Given the description of an element on the screen output the (x, y) to click on. 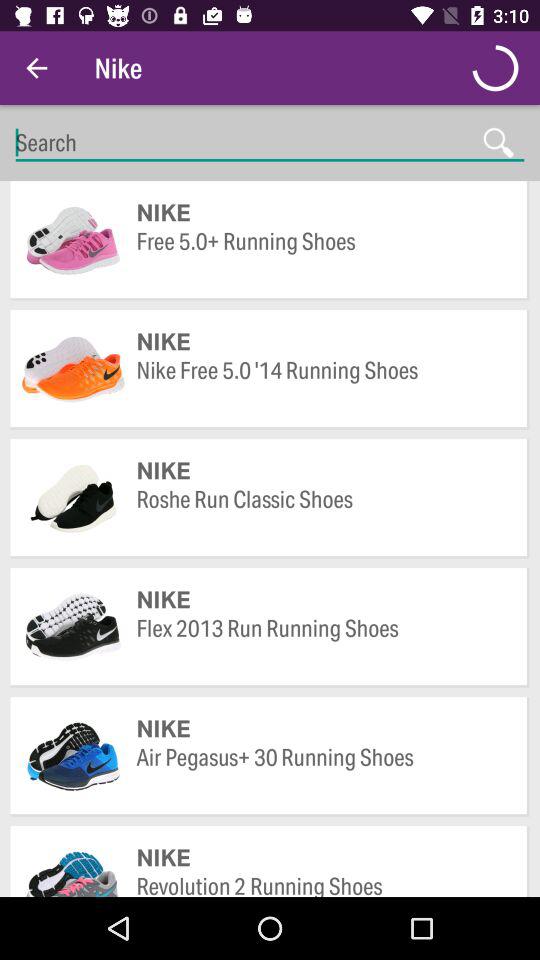
turn off the item above nike item (322, 772)
